Given the description of an element on the screen output the (x, y) to click on. 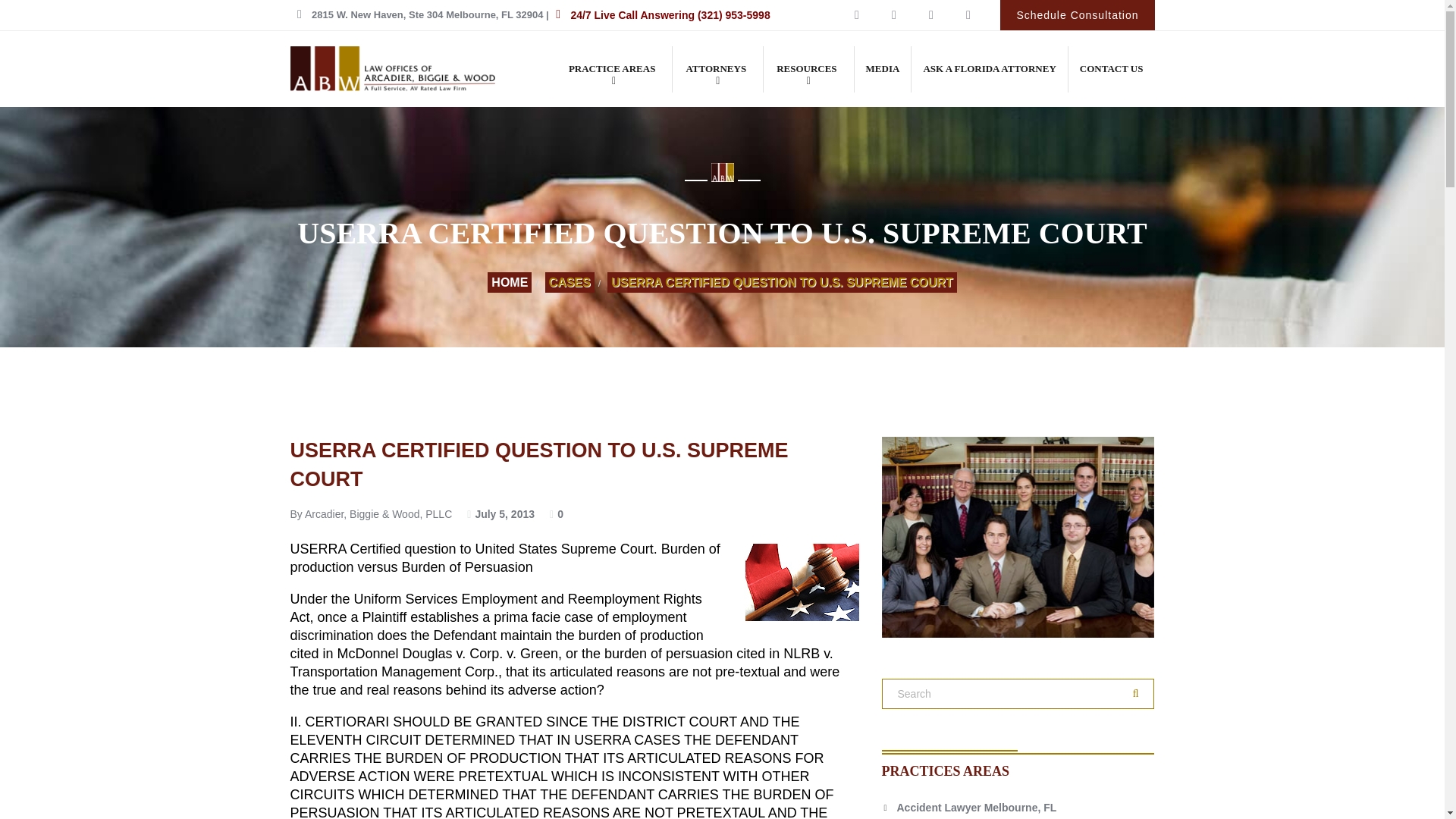
Schedule Consultation (1077, 15)
